Given the description of an element on the screen output the (x, y) to click on. 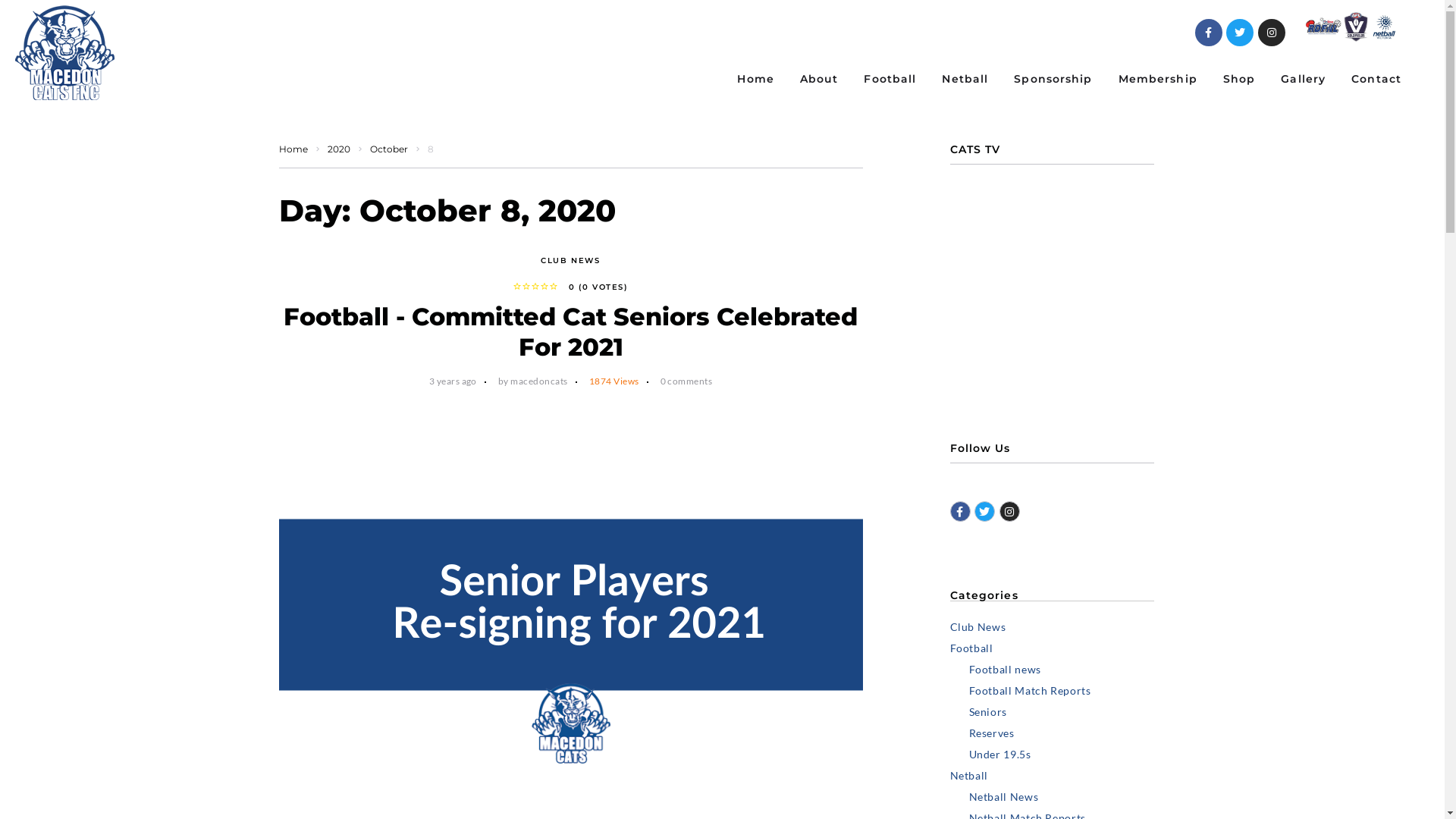
Gallery Element type: text (1302, 79)
Football Element type: text (889, 79)
Football Element type: text (1051, 647)
2020 Element type: text (338, 148)
Football Match Reports Element type: text (1061, 690)
About Element type: text (819, 79)
Reserves Element type: text (1061, 732)
Club News Element type: text (1051, 626)
Sponsorship Element type: text (1052, 79)
CLUB NEWS Element type: text (569, 260)
Netball Element type: text (1051, 775)
Seniors Element type: text (1061, 711)
Home Element type: text (293, 148)
Shop Element type: text (1238, 79)
Netball News Element type: text (1061, 796)
Contact Element type: text (1376, 79)
Netball Element type: text (964, 79)
Membership Element type: text (1157, 79)
Football news Element type: text (1061, 669)
Home Element type: text (755, 79)
Under 19.5s Element type: text (1061, 754)
macedoncats Element type: text (538, 380)
3 years ago Element type: text (452, 380)
Football - Committed Cat Seniors Celebrated For 2021 Element type: text (570, 331)
October Element type: text (388, 148)
